Given the description of an element on the screen output the (x, y) to click on. 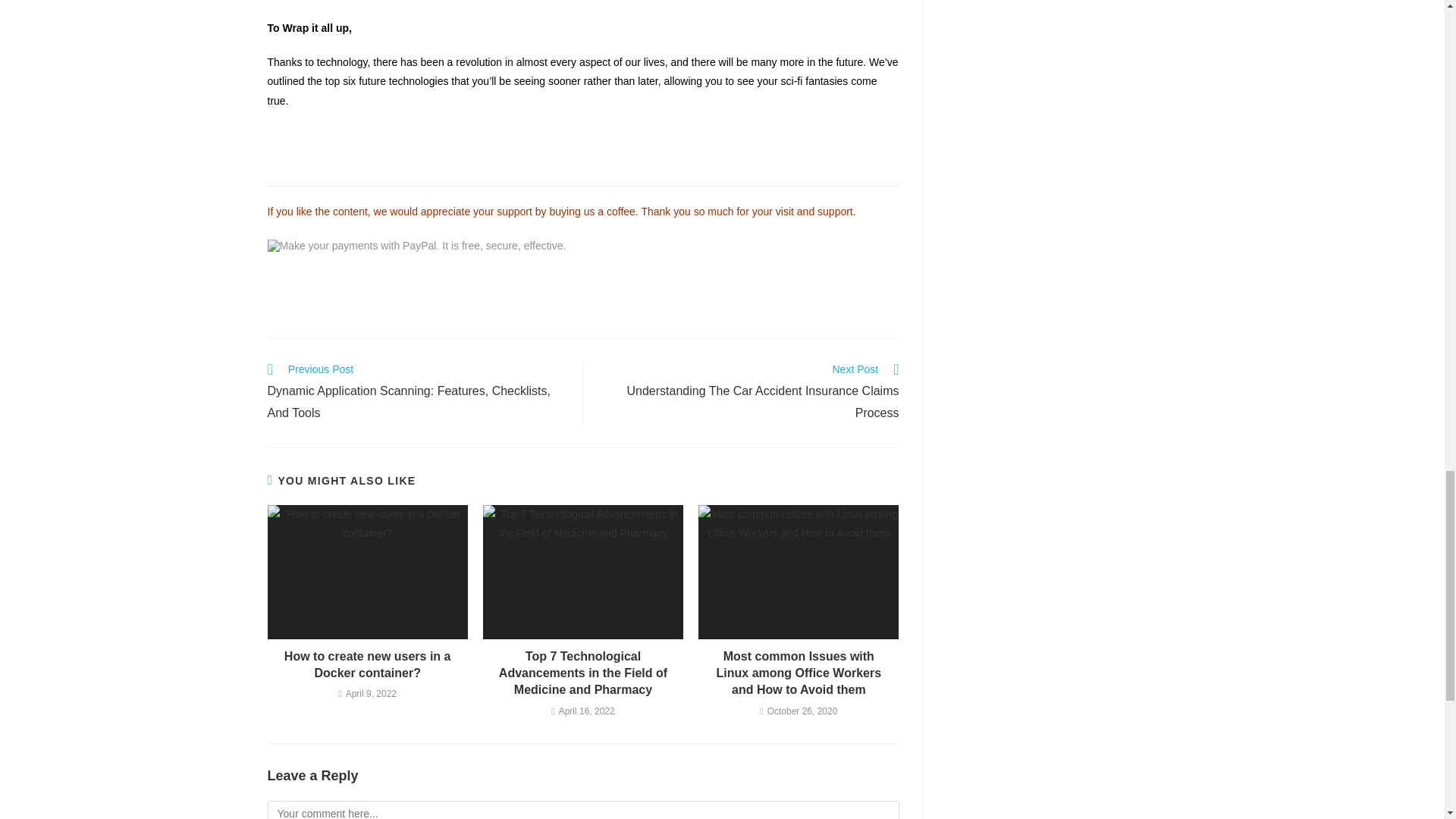
How to create new users in a Docker container? (367, 665)
How to create new users in a Docker container? (367, 665)
